Given the description of an element on the screen output the (x, y) to click on. 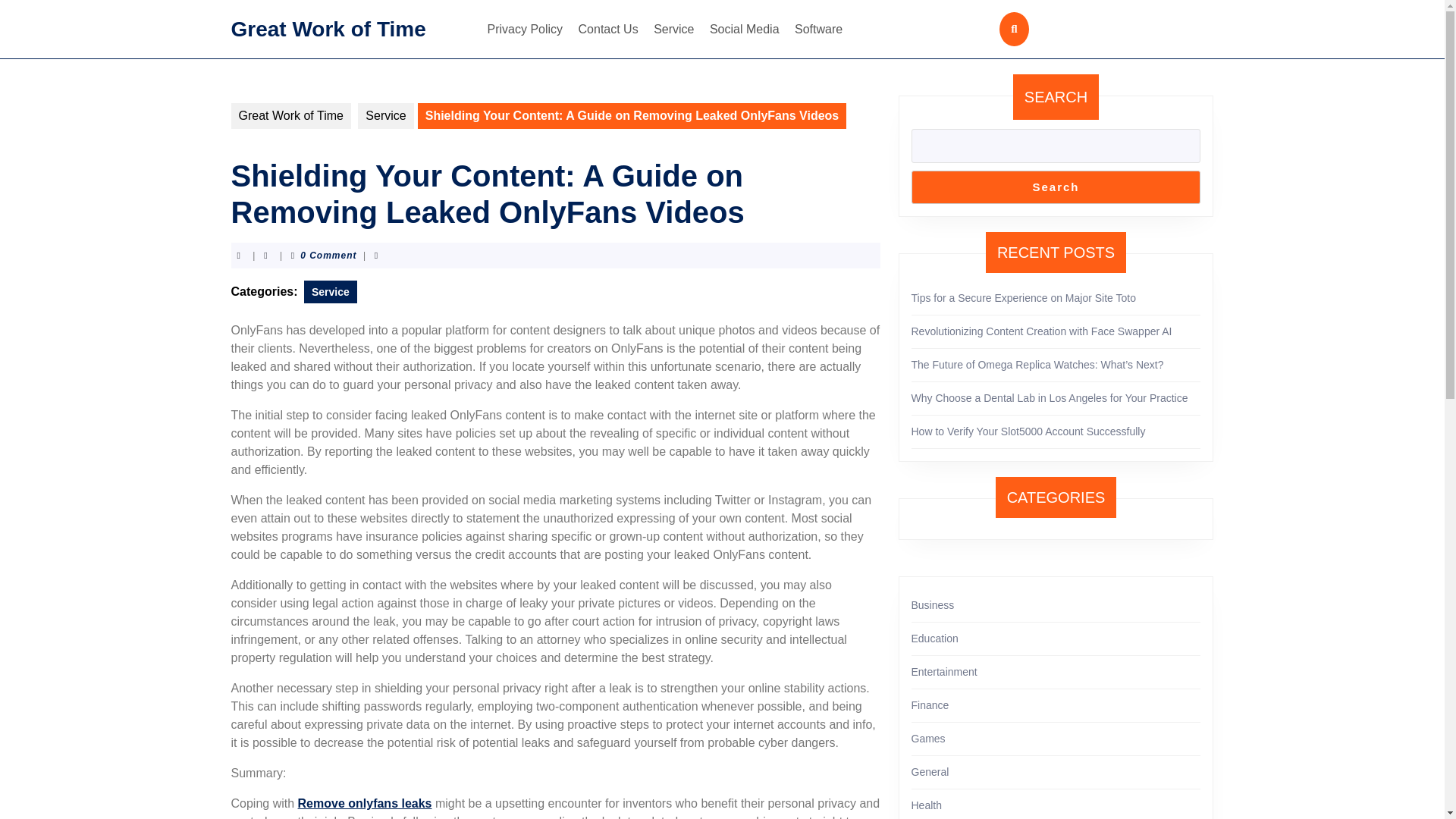
Education (934, 638)
Great Work of Time (327, 28)
Service (673, 28)
How to Verify Your Slot5000 Account Successfully (1028, 431)
Remove onlyfans leaks (365, 802)
Great Work of Time (290, 115)
Business (933, 604)
Why Choose a Dental Lab in Los Angeles for Your Practice (1049, 398)
Privacy Policy (524, 28)
Search (1056, 186)
